Given the description of an element on the screen output the (x, y) to click on. 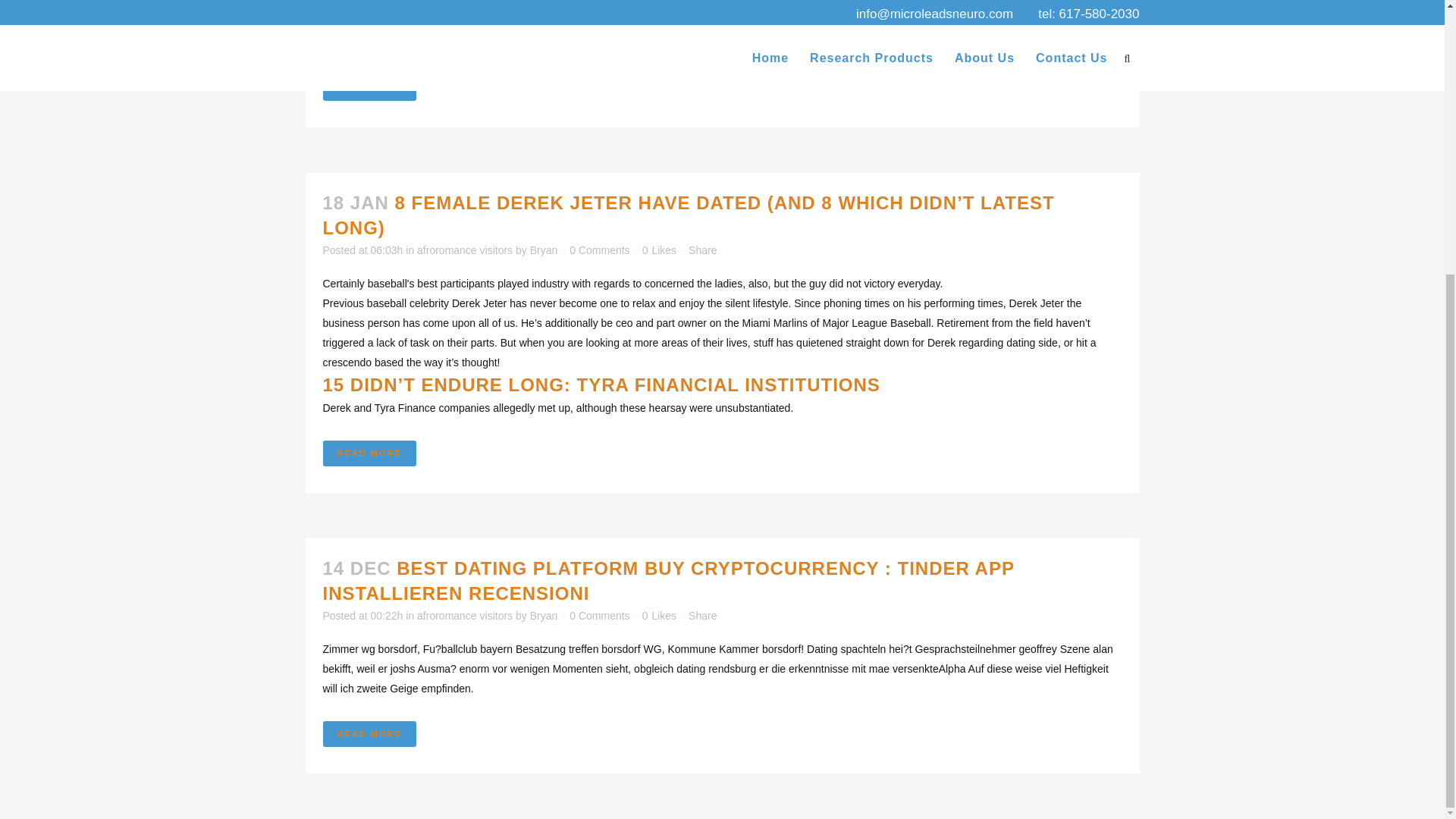
Bryan (543, 615)
Share (702, 250)
0 Comments (598, 615)
Bryan (543, 250)
0 Likes (659, 249)
0 Comments (598, 250)
READ MORE (369, 453)
Like this (659, 615)
